Given the description of an element on the screen output the (x, y) to click on. 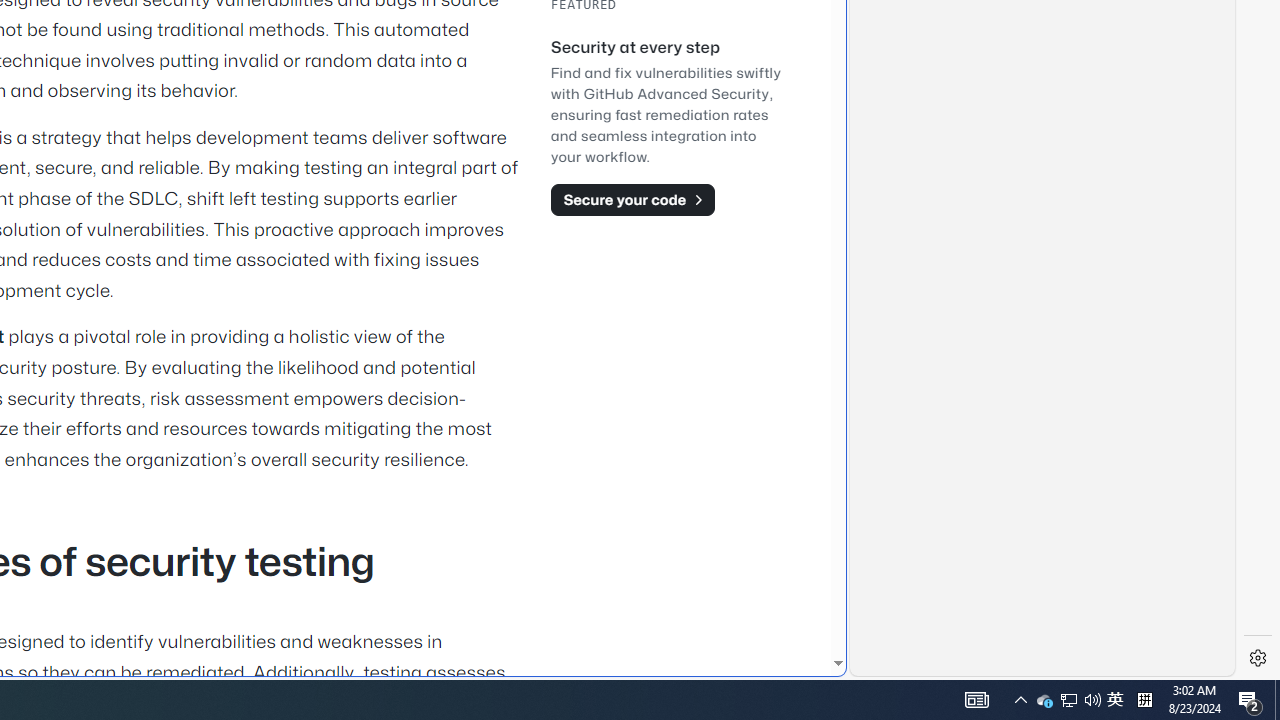
Secure your code (632, 199)
